Given the description of an element on the screen output the (x, y) to click on. 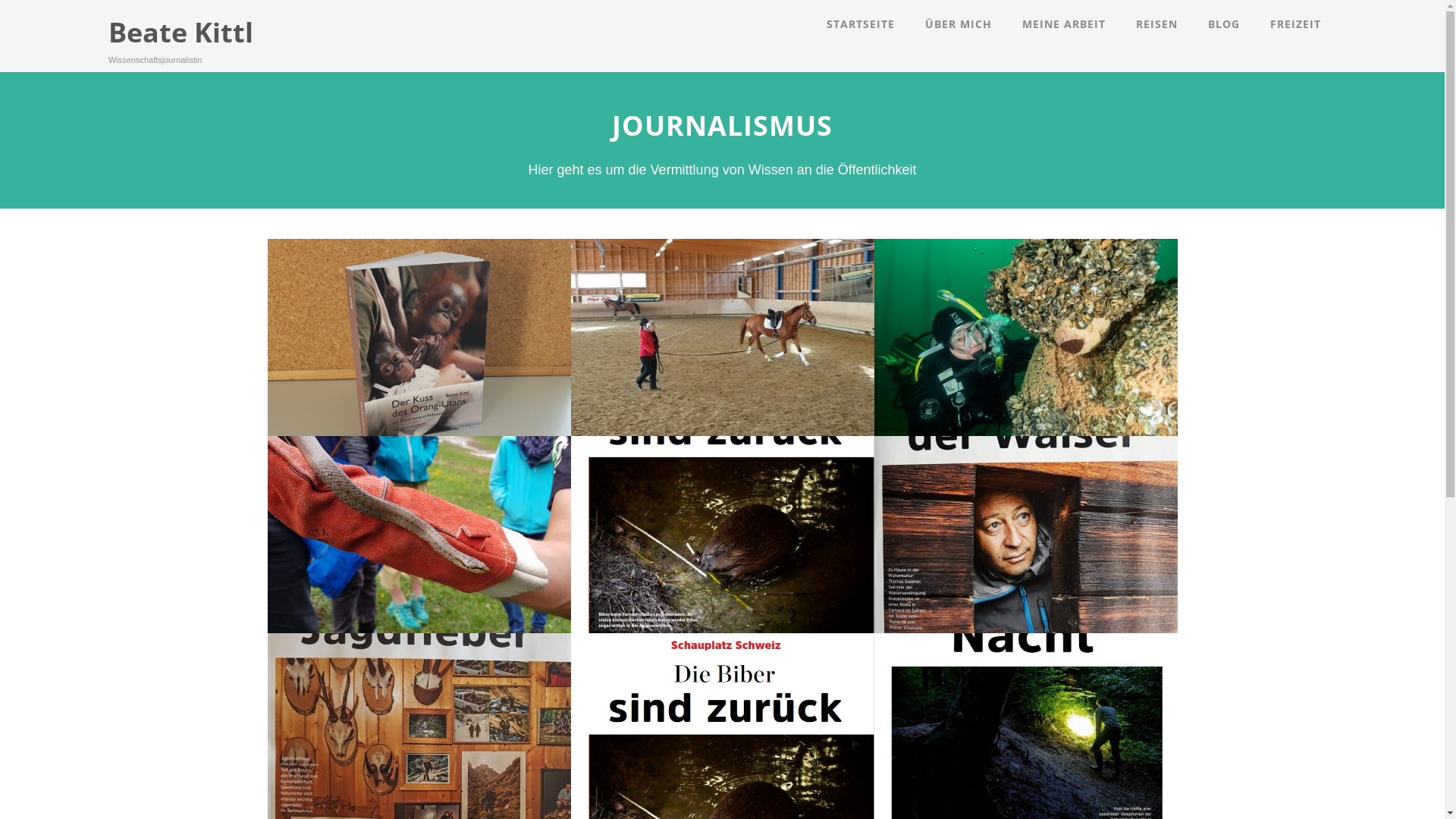
BLOG Element type: text (1223, 23)
REISEN Element type: text (1156, 23)
Beate Kittl Element type: text (180, 31)
FREIZEIT Element type: text (1295, 23)
MEINE ARBEIT Element type: text (1063, 23)
STARTSEITE Element type: text (860, 23)
